Given the description of an element on the screen output the (x, y) to click on. 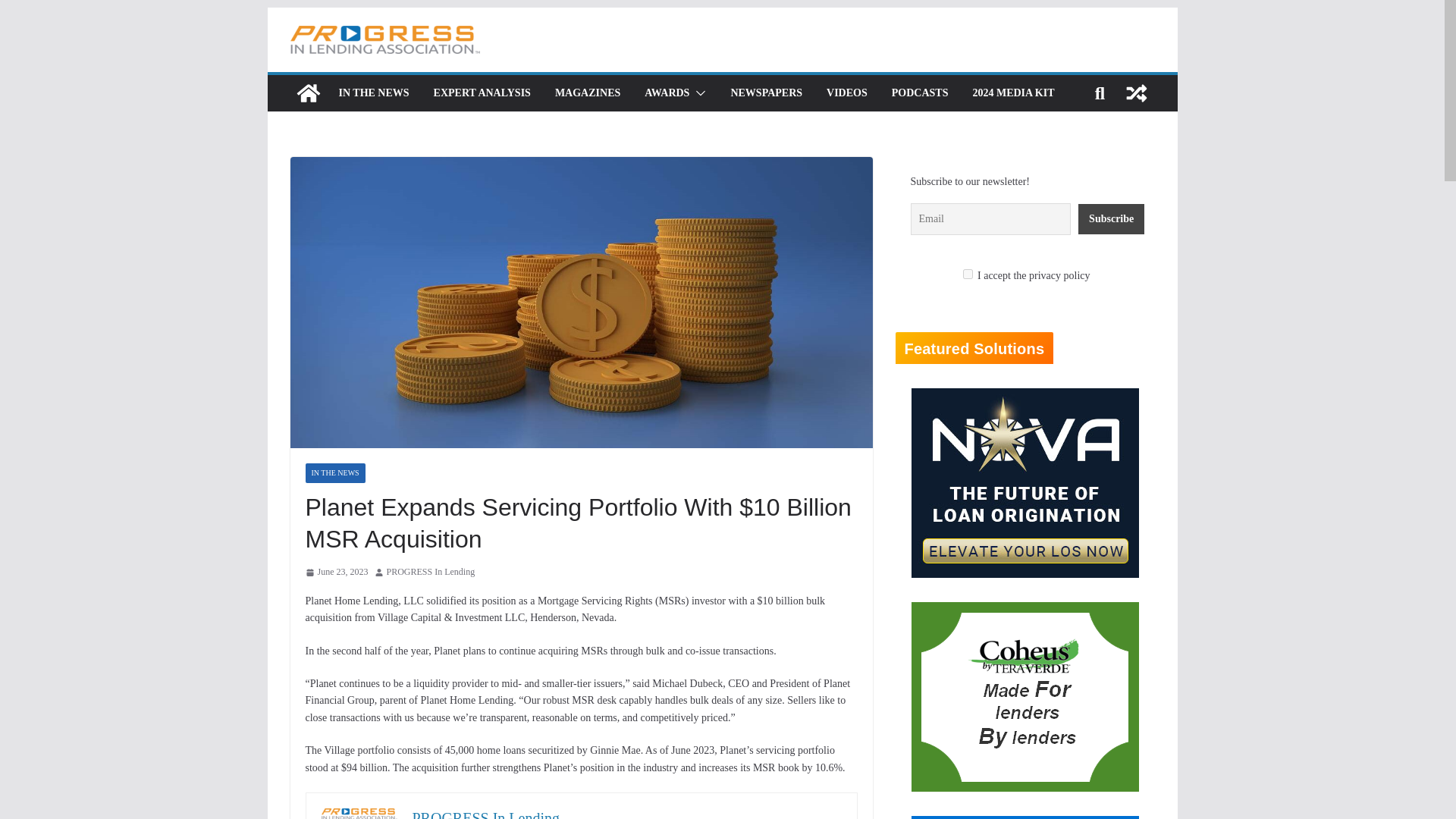
IN THE NEWS (373, 93)
AWARDS (666, 93)
PROGRESS In Lending (431, 572)
IN THE NEWS (334, 473)
PROGRESS In Lending (485, 814)
PODCASTS (920, 93)
NEWSPAPERS (766, 93)
PROGRESS in Lending (307, 93)
June 23, 2023 (336, 572)
View a random post (1136, 93)
on (967, 274)
Subscribe (1111, 218)
9:53 am (336, 572)
VIDEOS (847, 93)
